Given the description of an element on the screen output the (x, y) to click on. 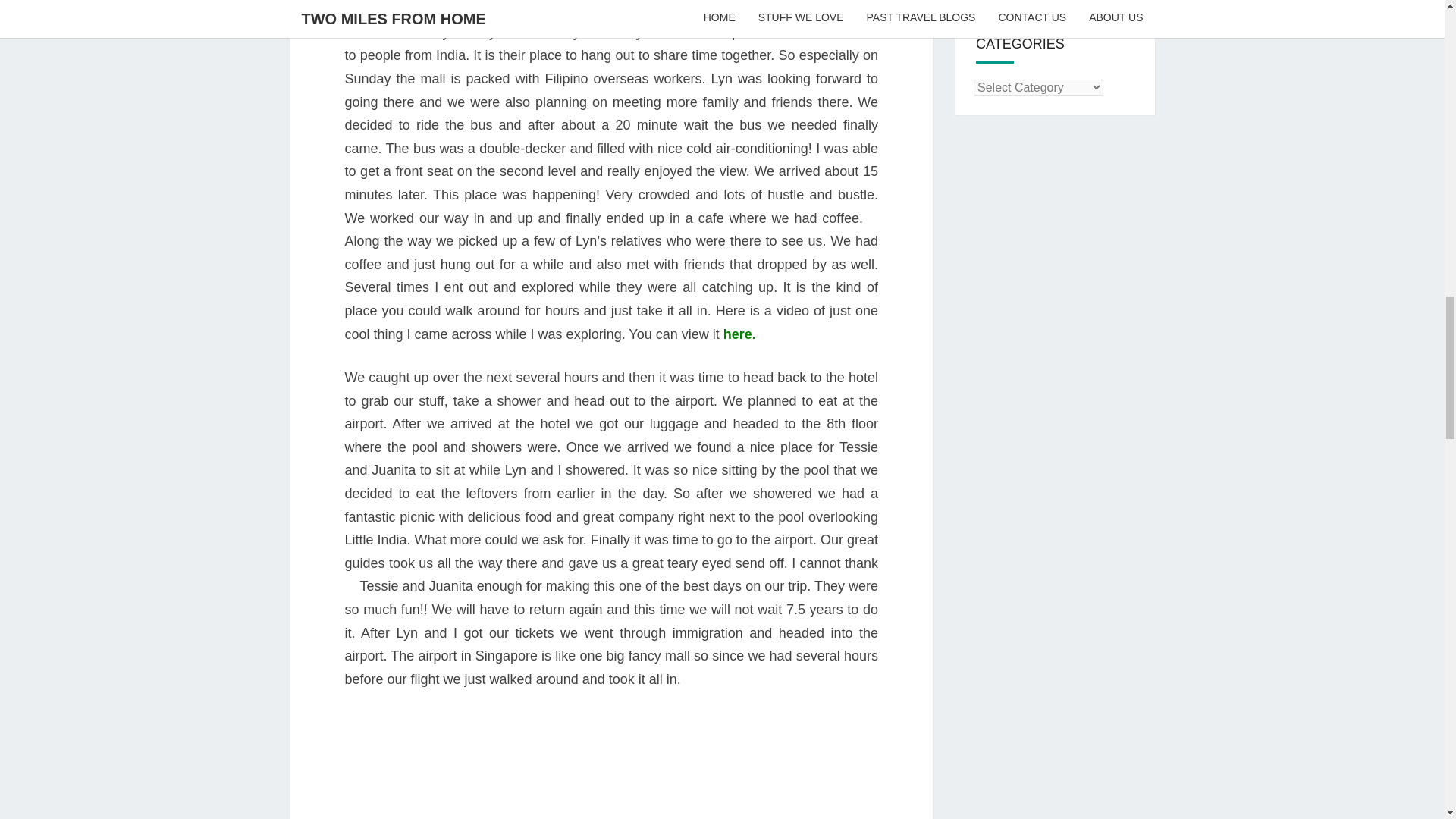
here. (739, 334)
